Given the description of an element on the screen output the (x, y) to click on. 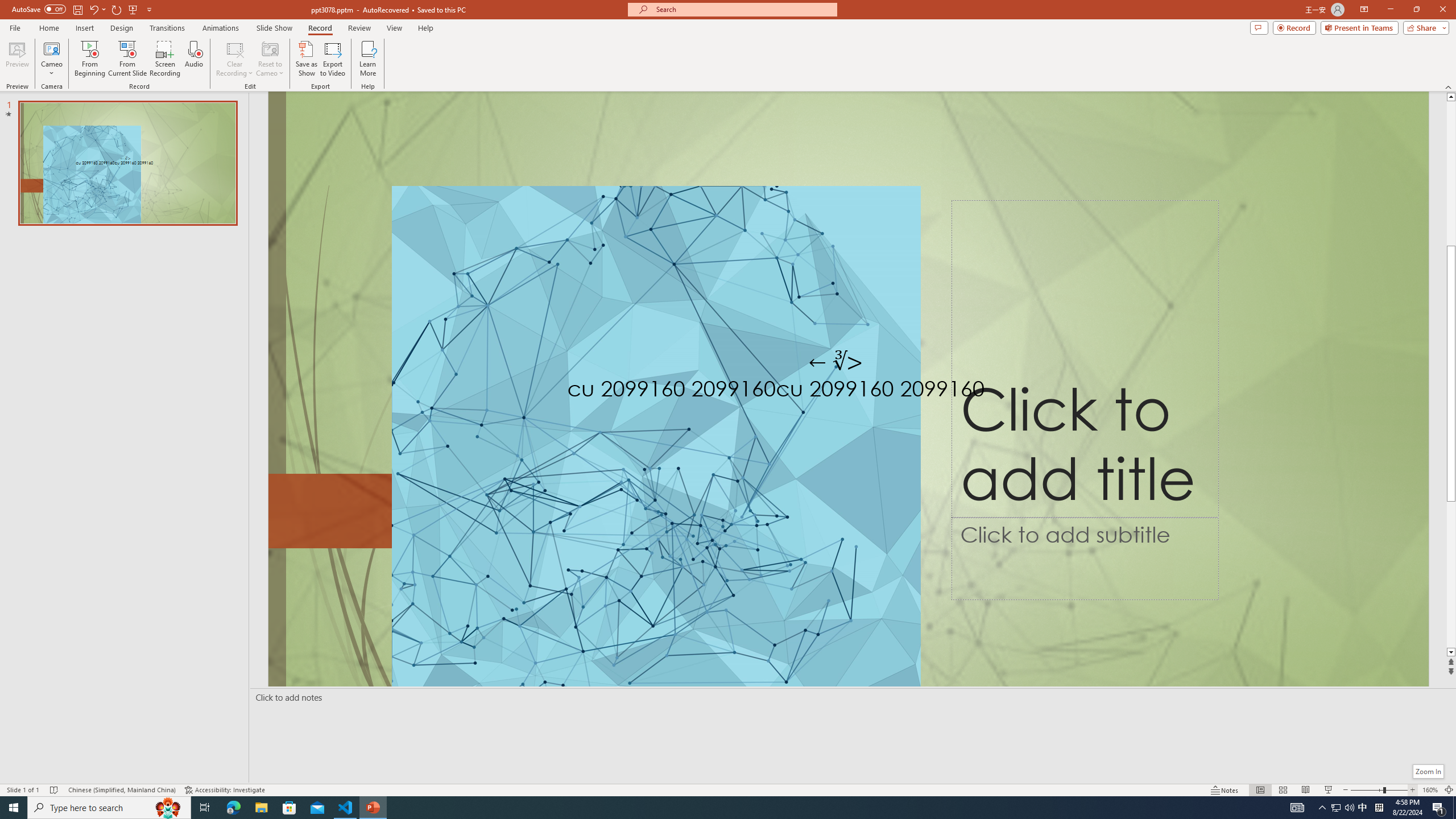
From Beginning... (89, 58)
